Given the description of an element on the screen output the (x, y) to click on. 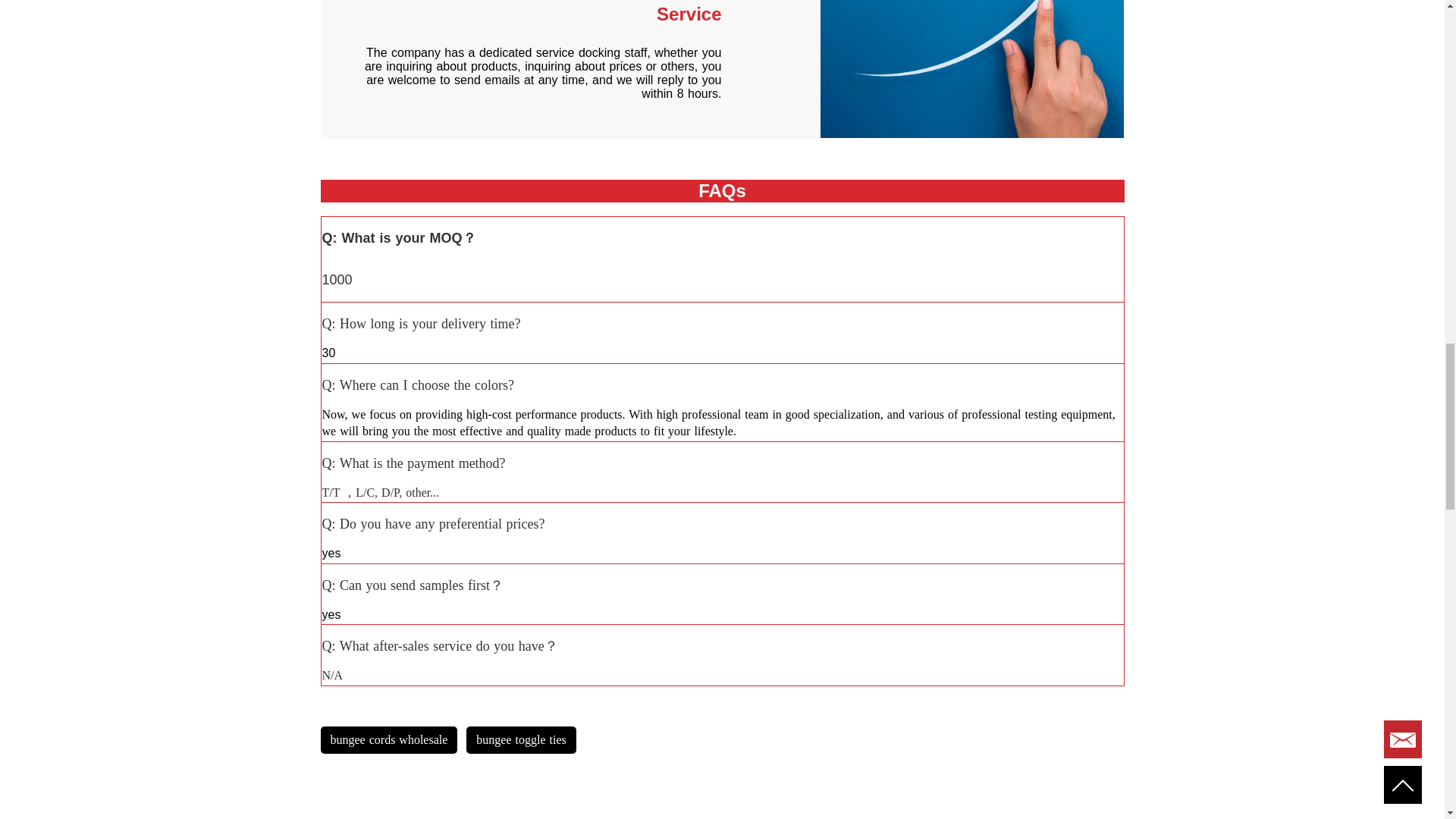
bungee cords wholesale (388, 739)
bungee toggle ties (520, 739)
